Given the description of an element on the screen output the (x, y) to click on. 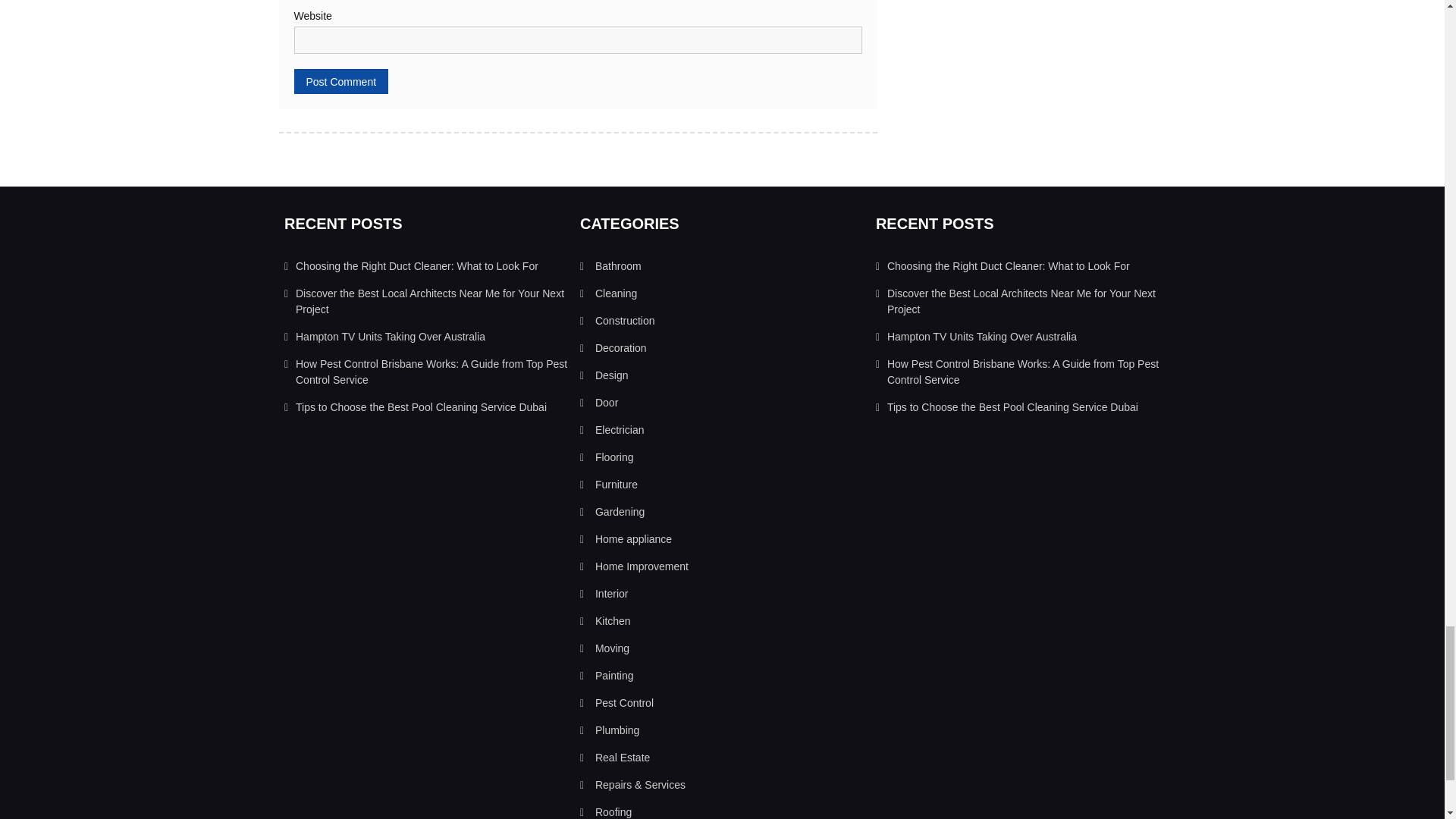
Post Comment (341, 81)
hot tub gazebo (606, 402)
